Given the description of an element on the screen output the (x, y) to click on. 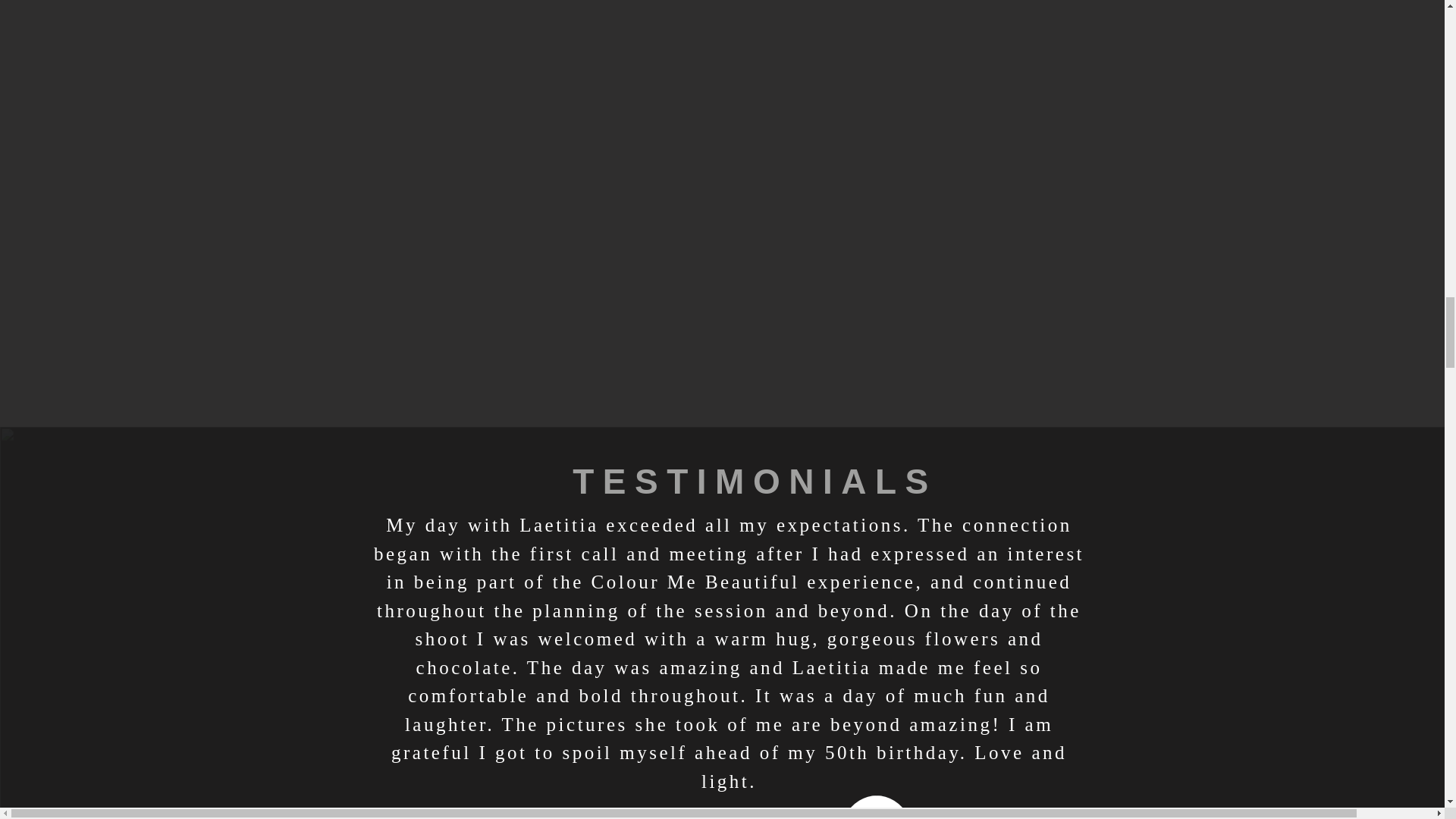
Lusanda (876, 807)
